Given the description of an element on the screen output the (x, y) to click on. 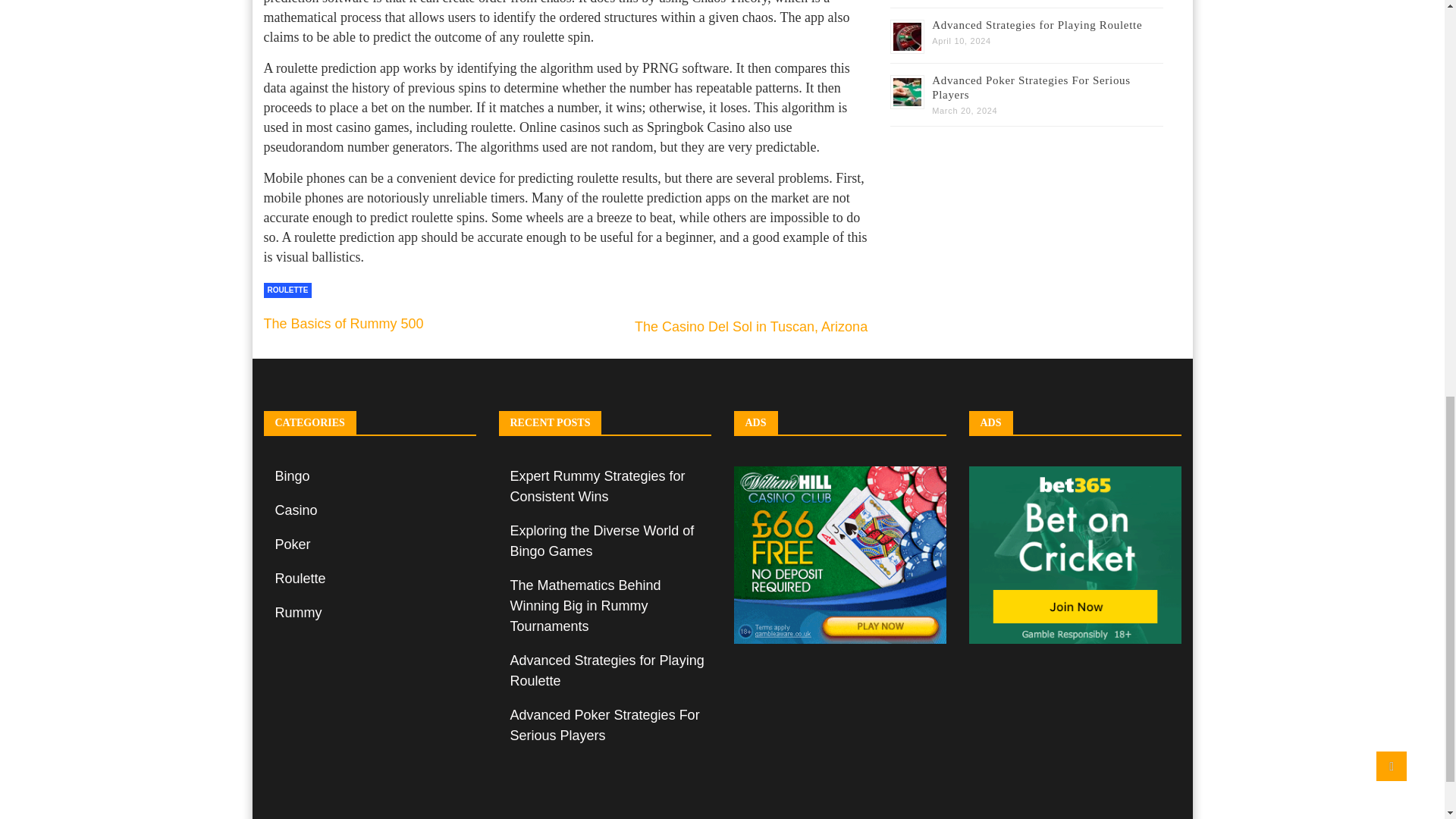
The Casino Del Sol in Tuscan, Arizona (750, 326)
ROULETTE (288, 290)
The Basics of Rummy 500 (343, 323)
Advanced Poker Strategies For Serious Players (1031, 87)
Advanced Strategies for Playing Roulette (1036, 24)
